Given the description of an element on the screen output the (x, y) to click on. 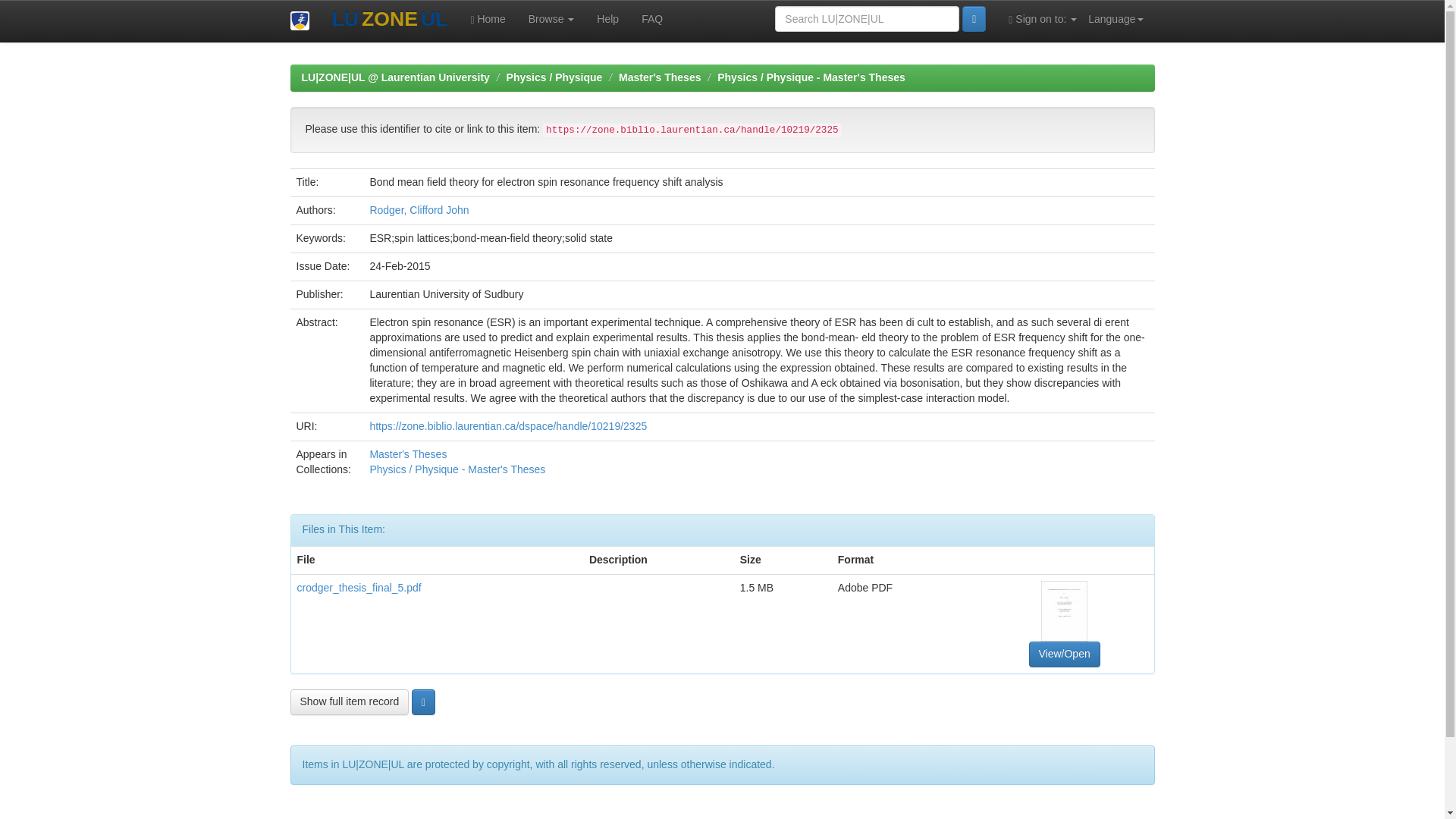
Language (1115, 18)
Browse (551, 18)
Master's Theses (659, 77)
LU ZONE UL (389, 20)
Show full item record (349, 701)
Home (487, 18)
Master's Theses (407, 453)
Help (607, 18)
Sign on to: (1042, 18)
Rodger, Clifford John (418, 209)
FAQ (652, 18)
